Given the description of an element on the screen output the (x, y) to click on. 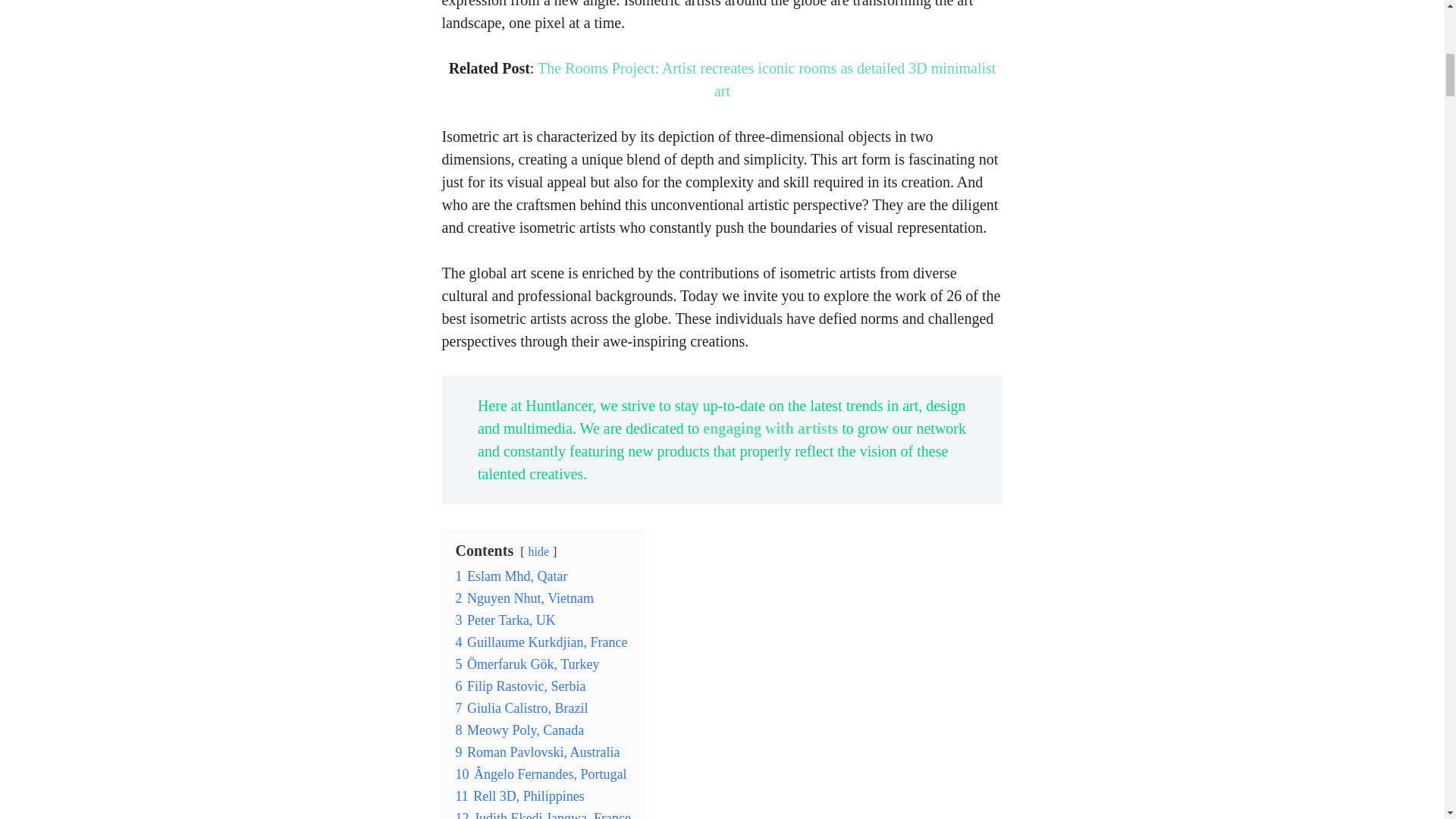
7 Giulia Calistro, Brazil (521, 708)
hide (537, 551)
engaging with artists (770, 428)
4 Guillaume Kurkdjian, France (540, 642)
1 Eslam Mhd, Qatar (510, 575)
2 Nguyen Nhut, Vietnam (524, 598)
8 Meowy Poly, Canada (518, 729)
6 Filip Rastovic, Serbia (519, 685)
3 Peter Tarka, UK (504, 620)
